Given the description of an element on the screen output the (x, y) to click on. 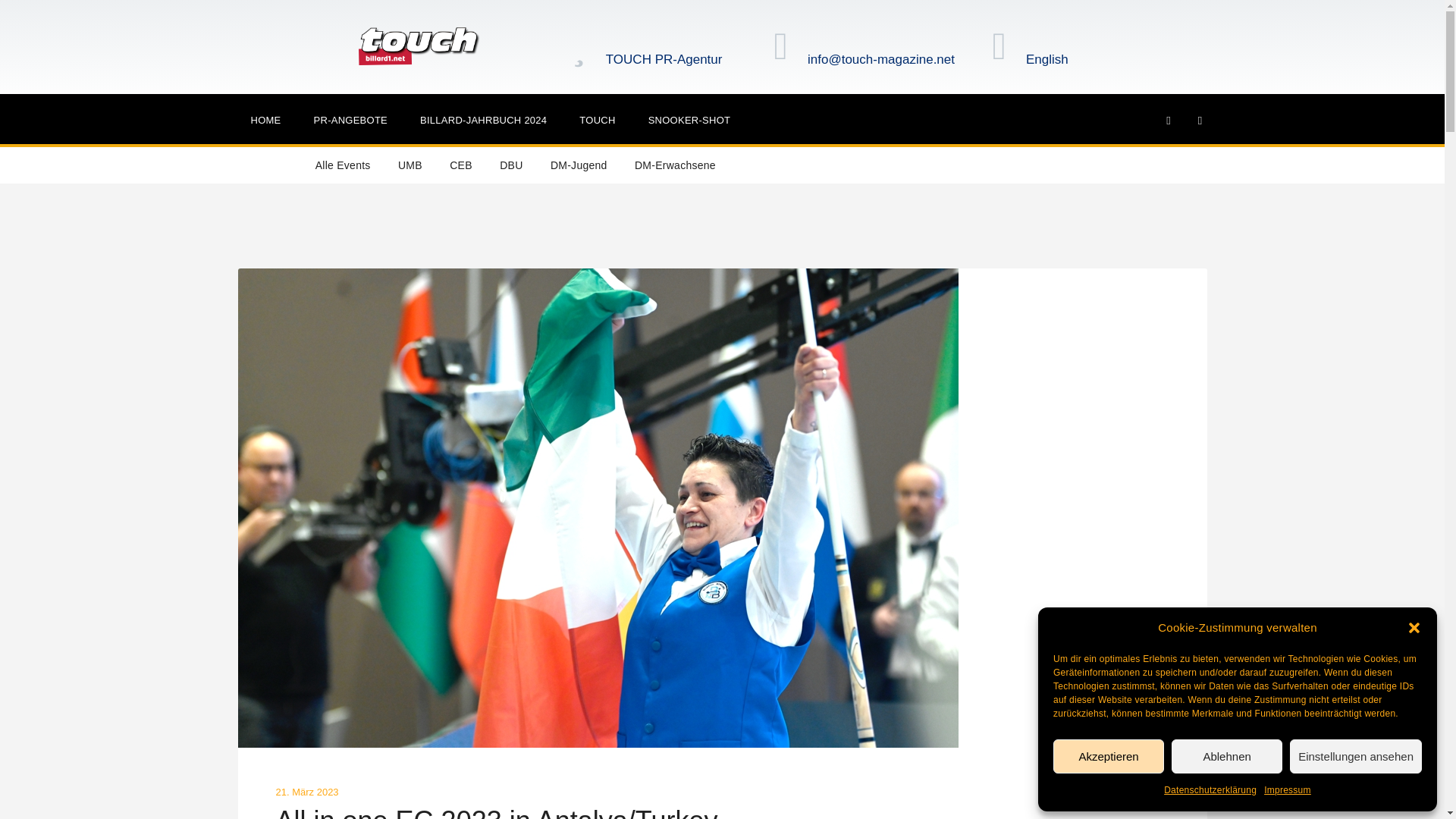
DBU (511, 165)
Impressum (1287, 790)
DM-Jugend (579, 165)
SNOOKER-SHOT (689, 120)
English (1083, 60)
Ablehnen (1227, 756)
TOUCH (597, 120)
DM-Erwachsene (675, 165)
PR-ANGEBOTE (350, 120)
BILLARD-JAHRBUCH 2024 (483, 120)
Einstellungen ansehen (1356, 756)
Alle Events (342, 165)
UMB (409, 165)
HOME (264, 120)
CEB (460, 165)
